Given the description of an element on the screen output the (x, y) to click on. 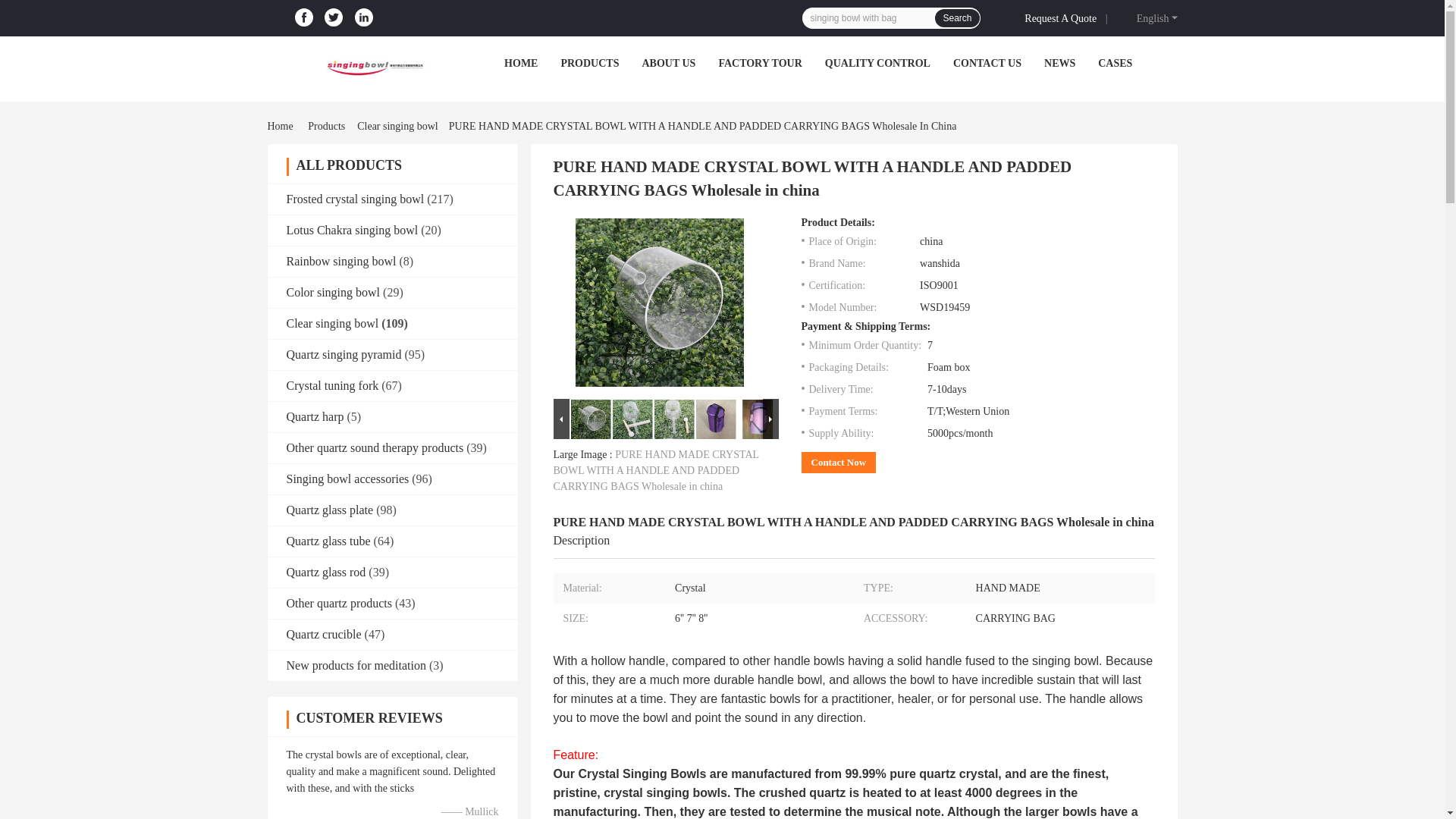
CASES (1114, 62)
Quartz glass tube (328, 540)
Lotus Chakra singing bowl (352, 229)
ABOUT US (668, 62)
Quote (1063, 17)
Quartz harp (314, 416)
Quartz crucible (323, 634)
Singing bowl accessories (347, 478)
Jinzhou Wanshida Quartz Glass Co.,Ltd (373, 66)
Request A Quote (1063, 17)
